Given the description of an element on the screen output the (x, y) to click on. 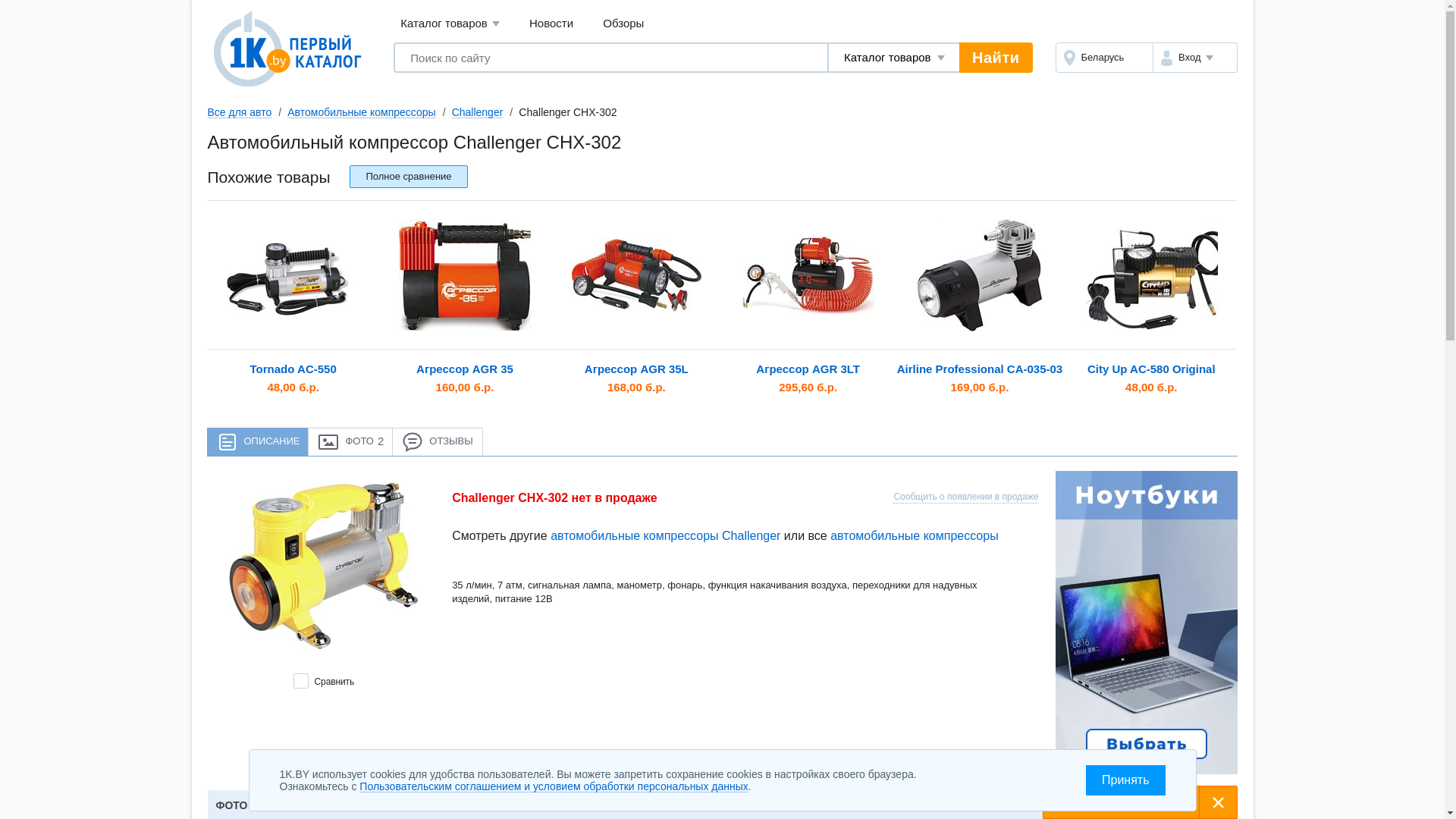
Challenger Element type: text (477, 112)
Challenger CHX-302 Element type: hover (323, 568)
Airline Professional CA-035-03 Element type: hover (979, 275)
